Given the description of an element on the screen output the (x, y) to click on. 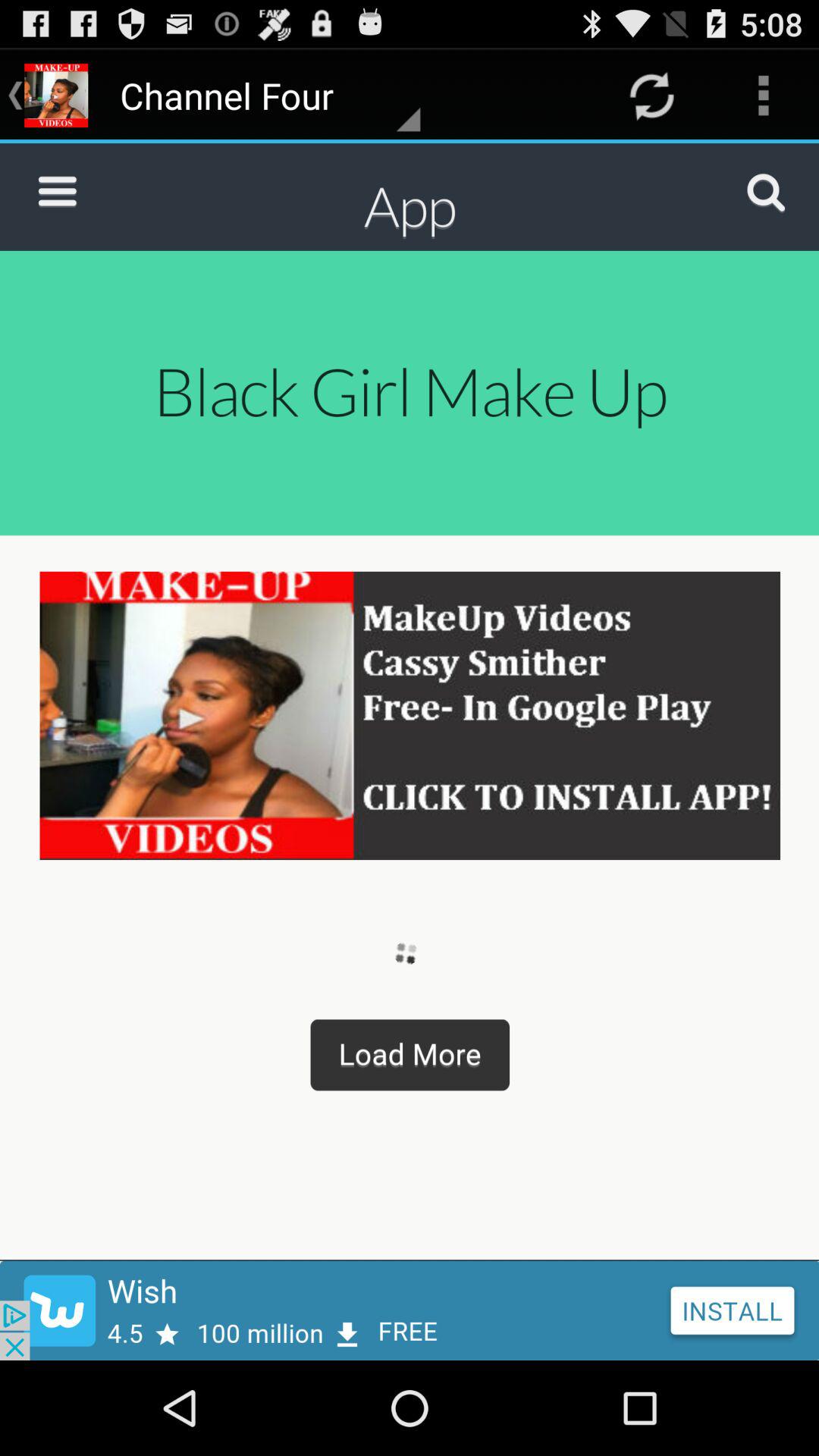
access advertisement (409, 1310)
